Given the description of an element on the screen output the (x, y) to click on. 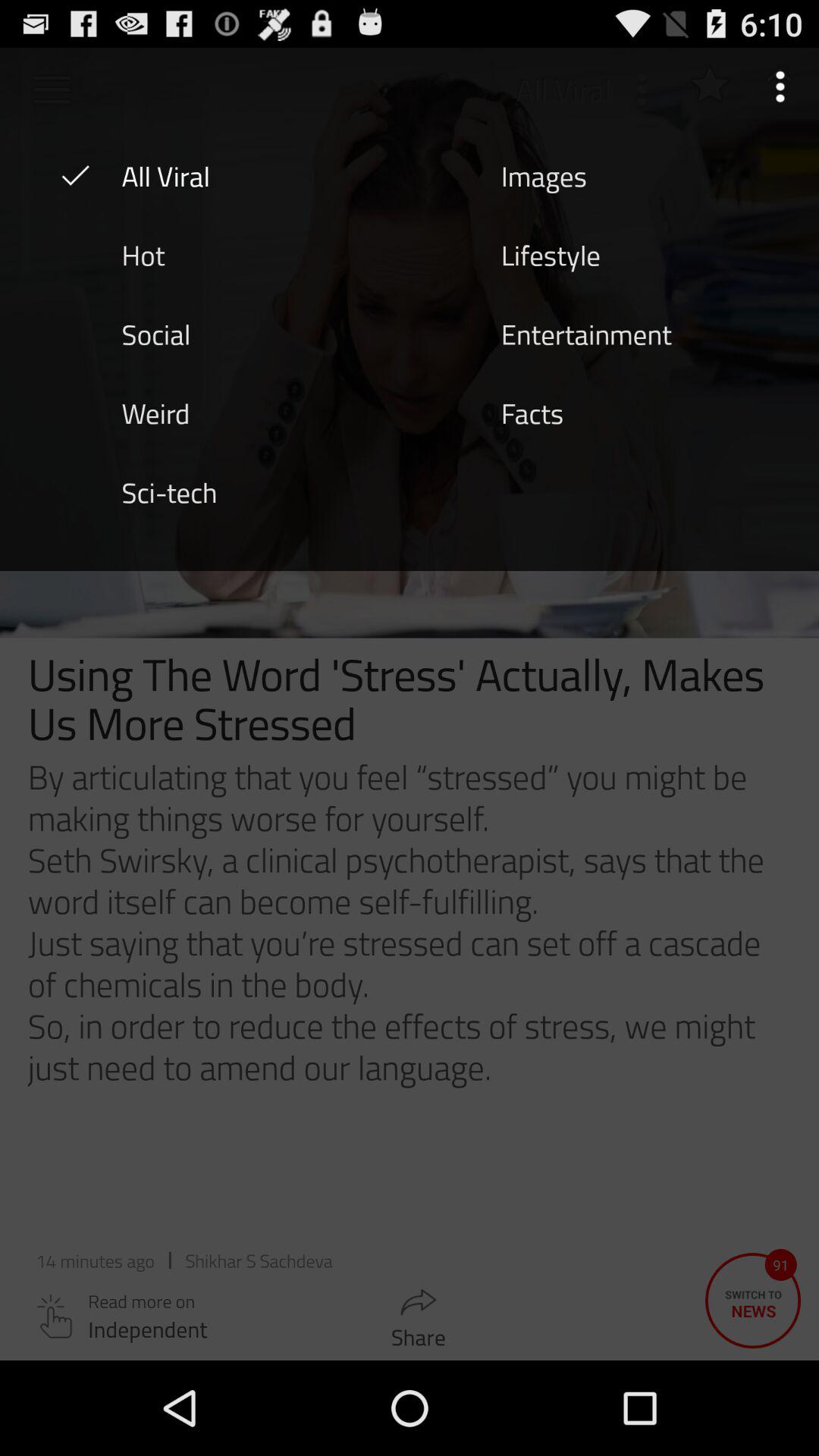
turn on item below social item (155, 411)
